Given the description of an element on the screen output the (x, y) to click on. 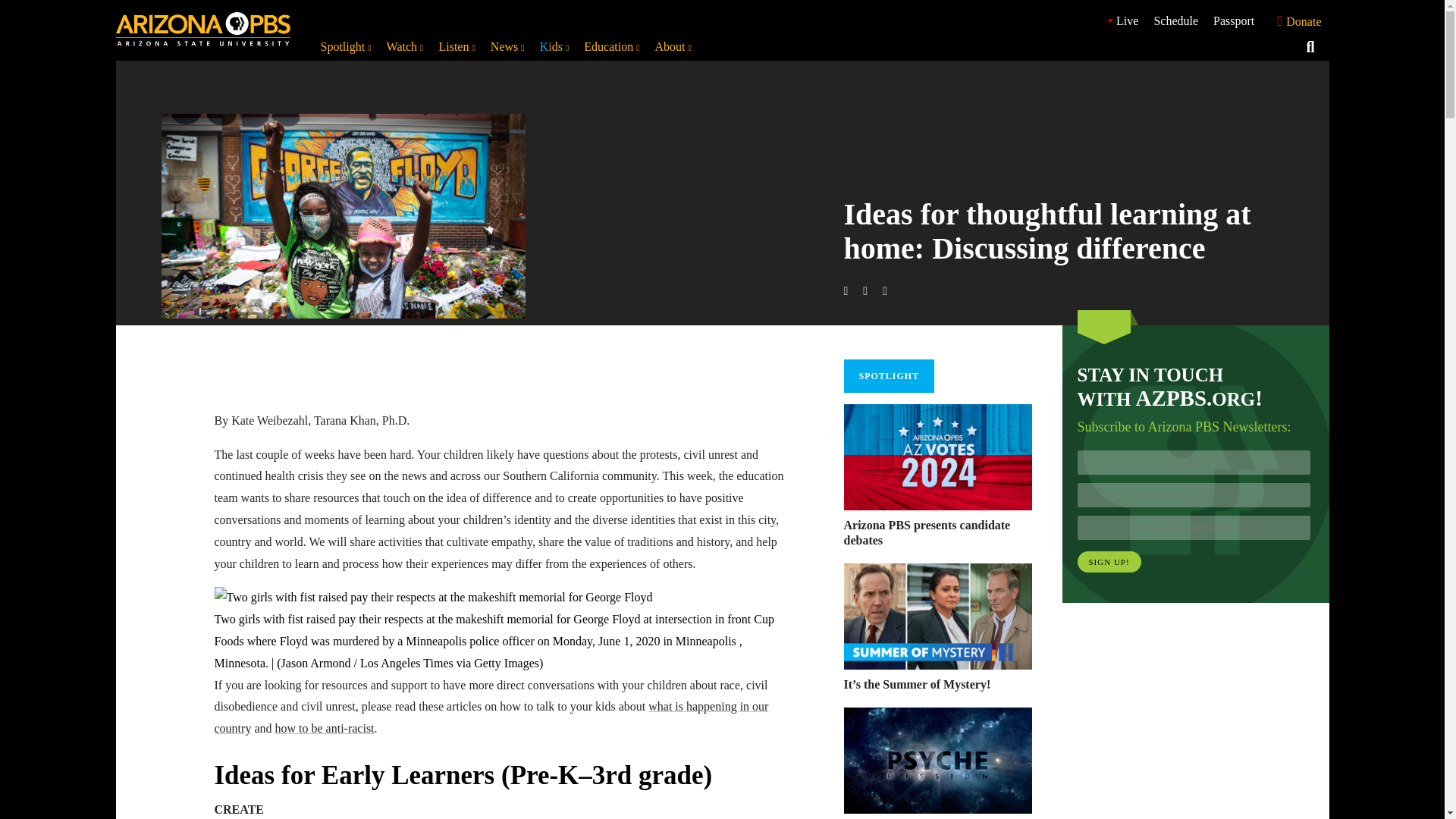
Spotlight (345, 47)
Schedule (1175, 19)
Schedule (1175, 20)
Watch (404, 47)
Passport (1232, 19)
Sign up! (1108, 561)
Donate (1294, 20)
SKIP TO CONTENT (15, 7)
Passport (1233, 20)
Donate (1294, 21)
